Given the description of an element on the screen output the (x, y) to click on. 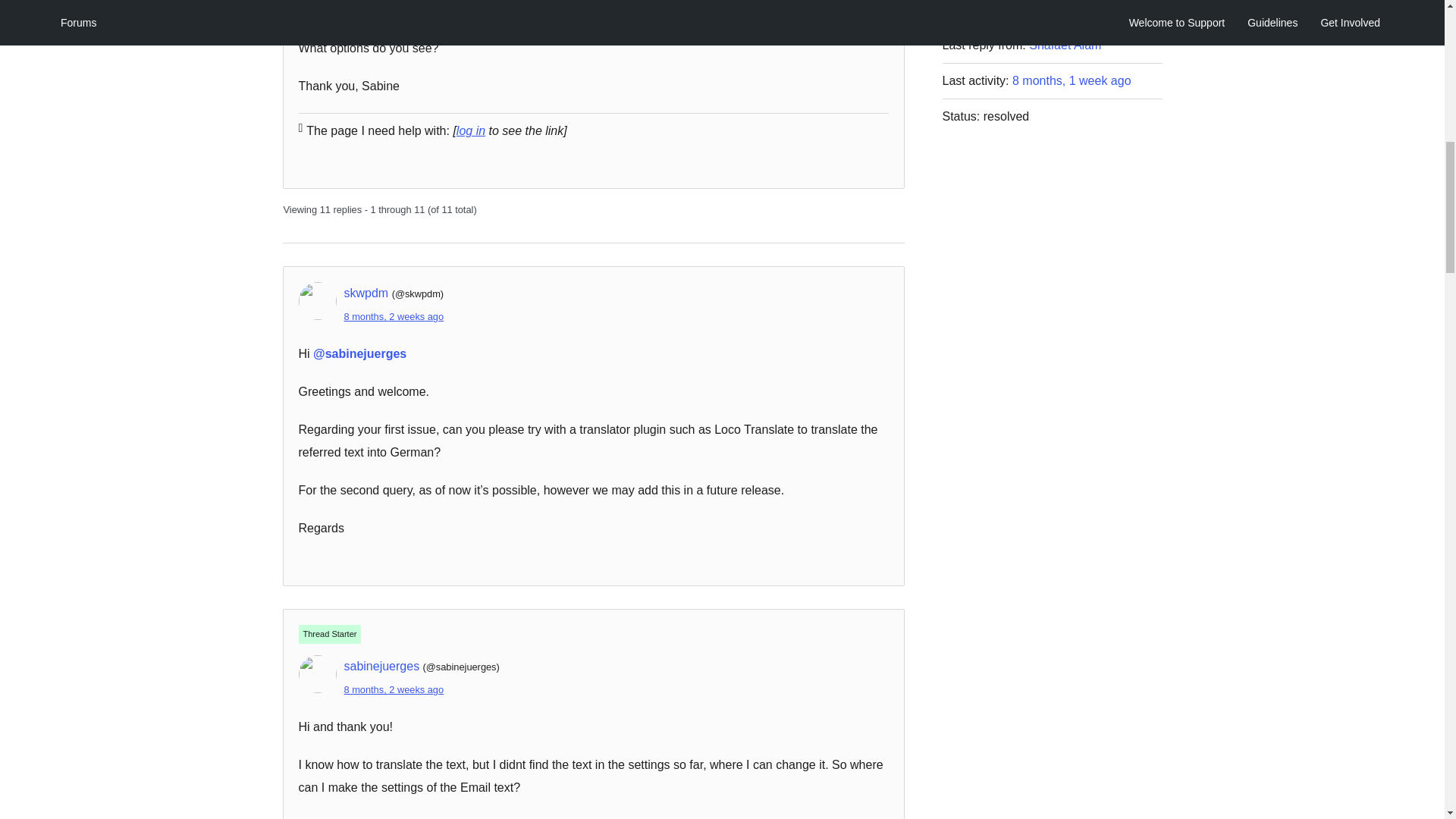
View sabinejuerges's profile (381, 666)
This person created the thread (329, 633)
November 7, 2023 at 5:04 pm (393, 316)
November 8, 2023 at 9:06 am (393, 689)
View skwpdm's profile (365, 292)
